Given the description of an element on the screen output the (x, y) to click on. 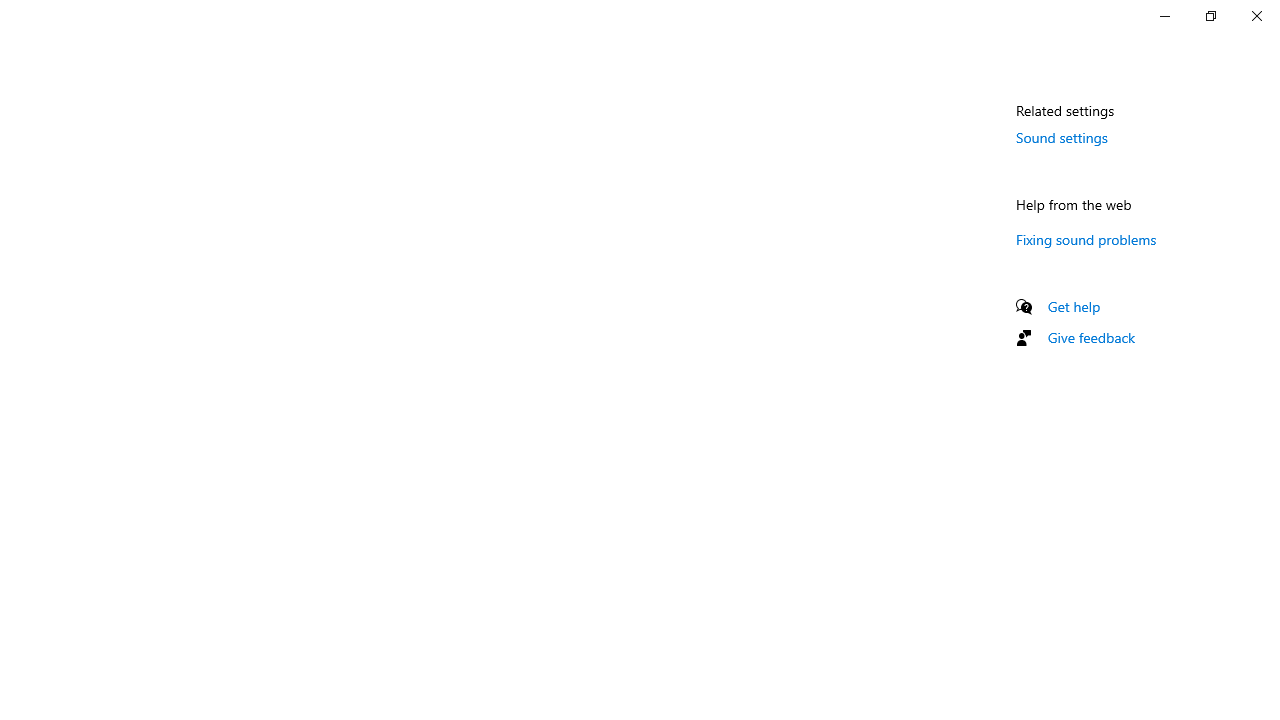
Fixing sound problems (1086, 239)
Minimize Settings (1164, 15)
Restore Settings (1210, 15)
Give feedback (1091, 337)
Sound settings (1062, 137)
Close Settings (1256, 15)
Get help (1074, 306)
